Given the description of an element on the screen output the (x, y) to click on. 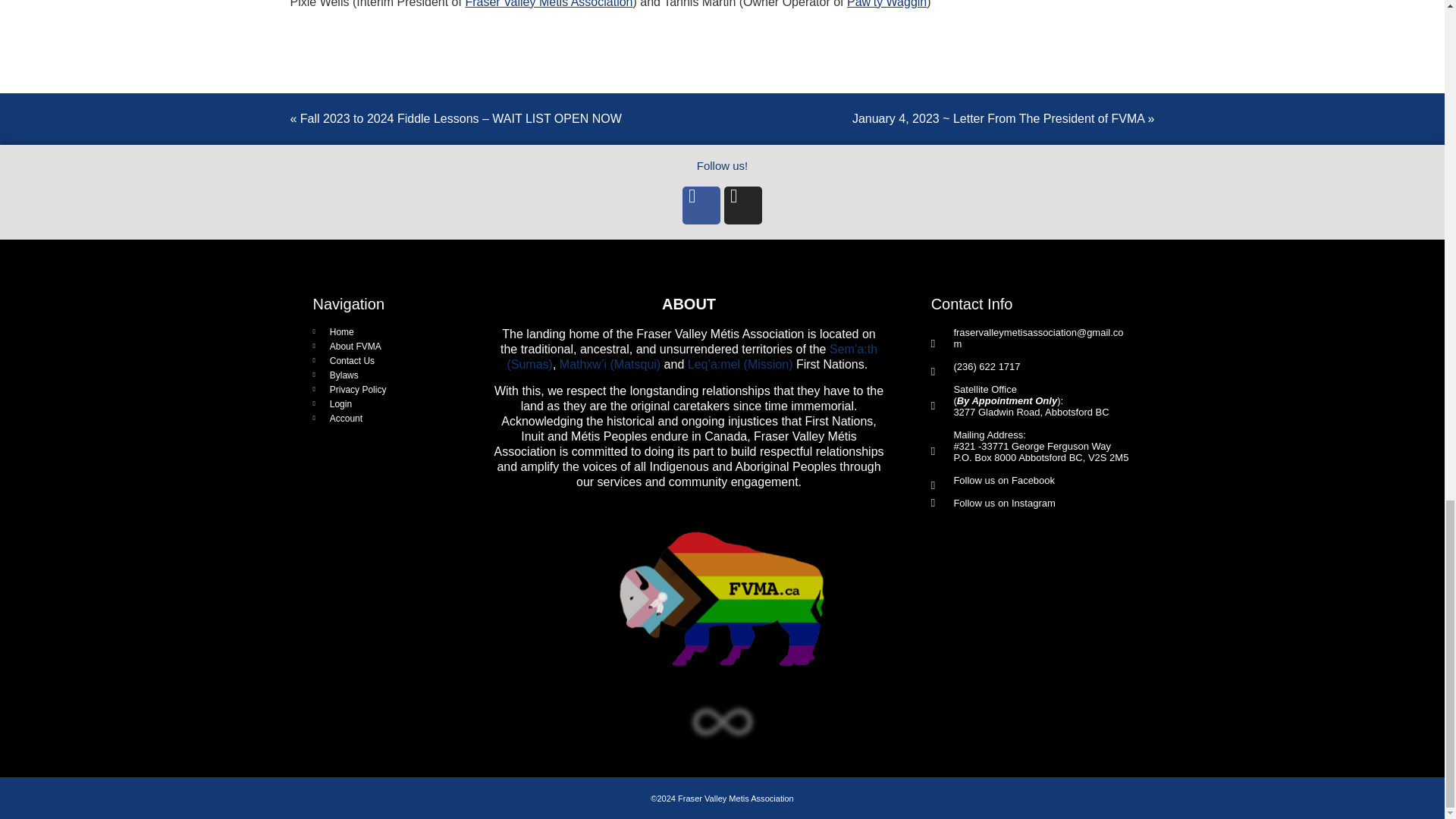
Follow us on Instagram (993, 502)
Account (379, 418)
Login (379, 403)
About FVMA (379, 346)
Home (379, 331)
Contact Us (379, 360)
Bylaws (379, 375)
Privacy Policy (379, 389)
Follow us on Facebook (992, 486)
